Given the description of an element on the screen output the (x, y) to click on. 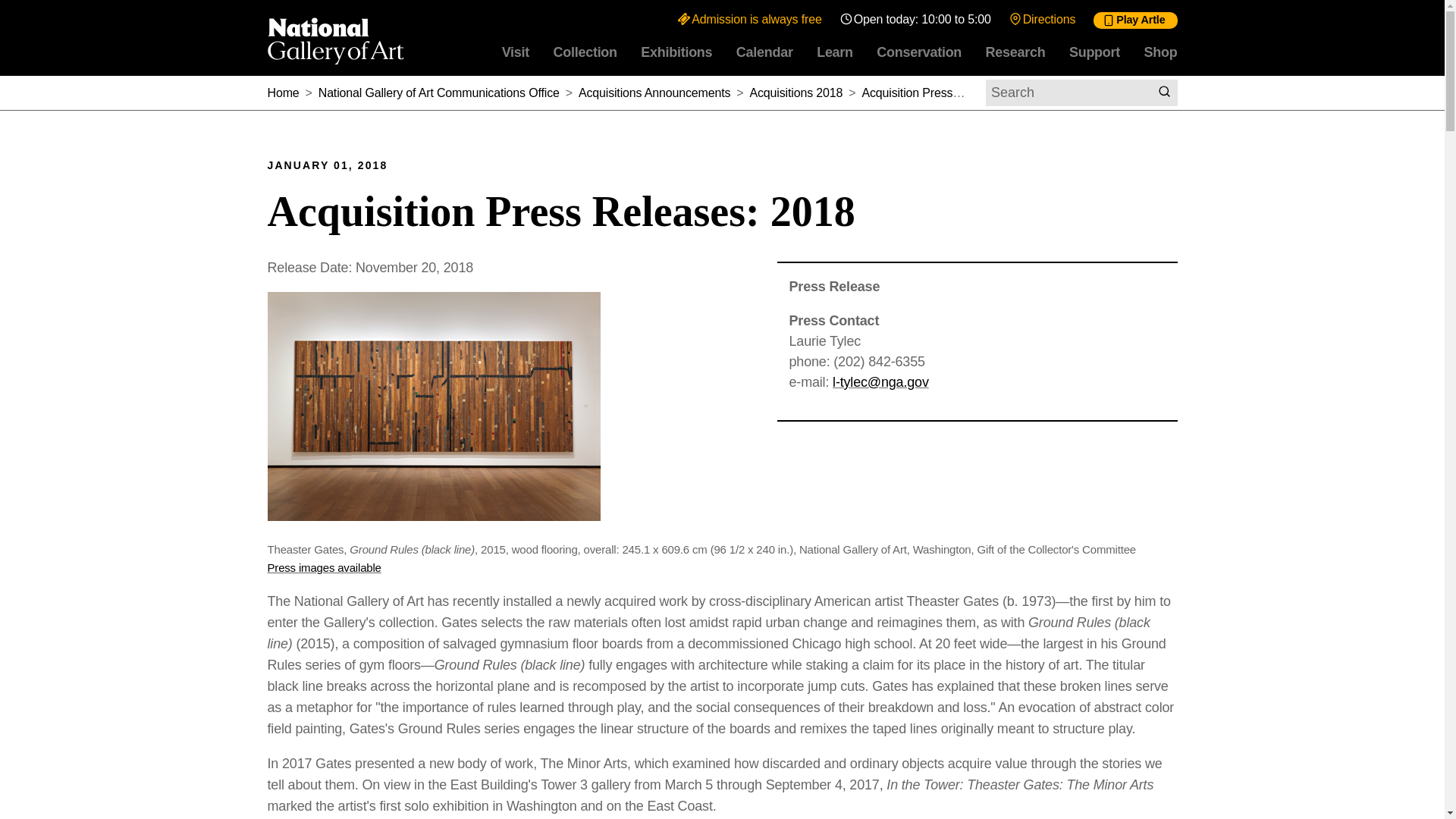
Admission is always free (749, 19)
Play Artle (1134, 20)
Collection (585, 52)
Exhibitions (675, 52)
Directions (1042, 19)
Learn (834, 52)
Calendar (763, 52)
